Given the description of an element on the screen output the (x, y) to click on. 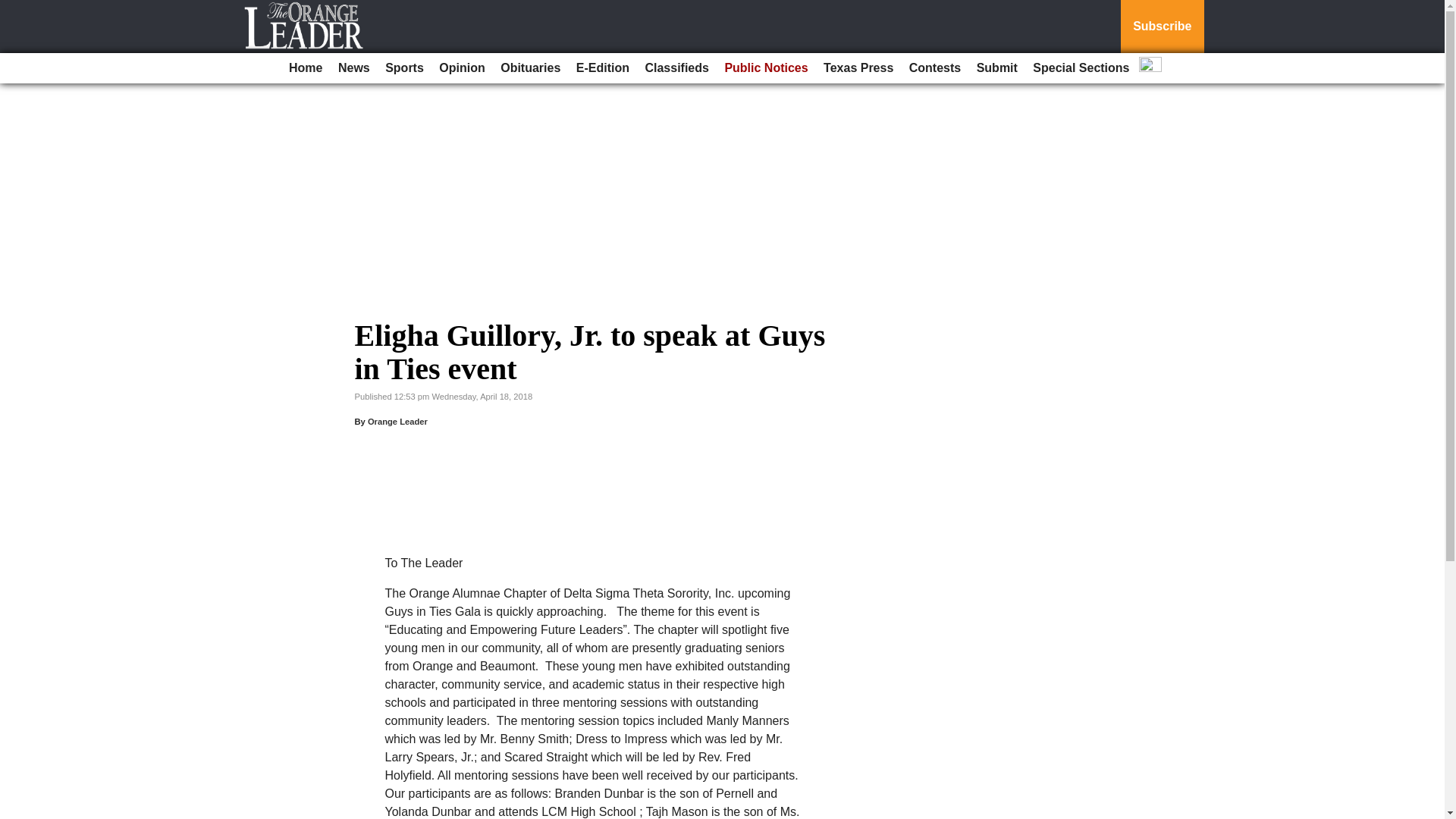
Orange Leader (398, 420)
Public Notices (765, 68)
Subscribe (1162, 26)
News (353, 68)
Special Sections (1080, 68)
Submit (997, 68)
Home (305, 68)
E-Edition (602, 68)
Go (13, 9)
Opinion (461, 68)
